Given the description of an element on the screen output the (x, y) to click on. 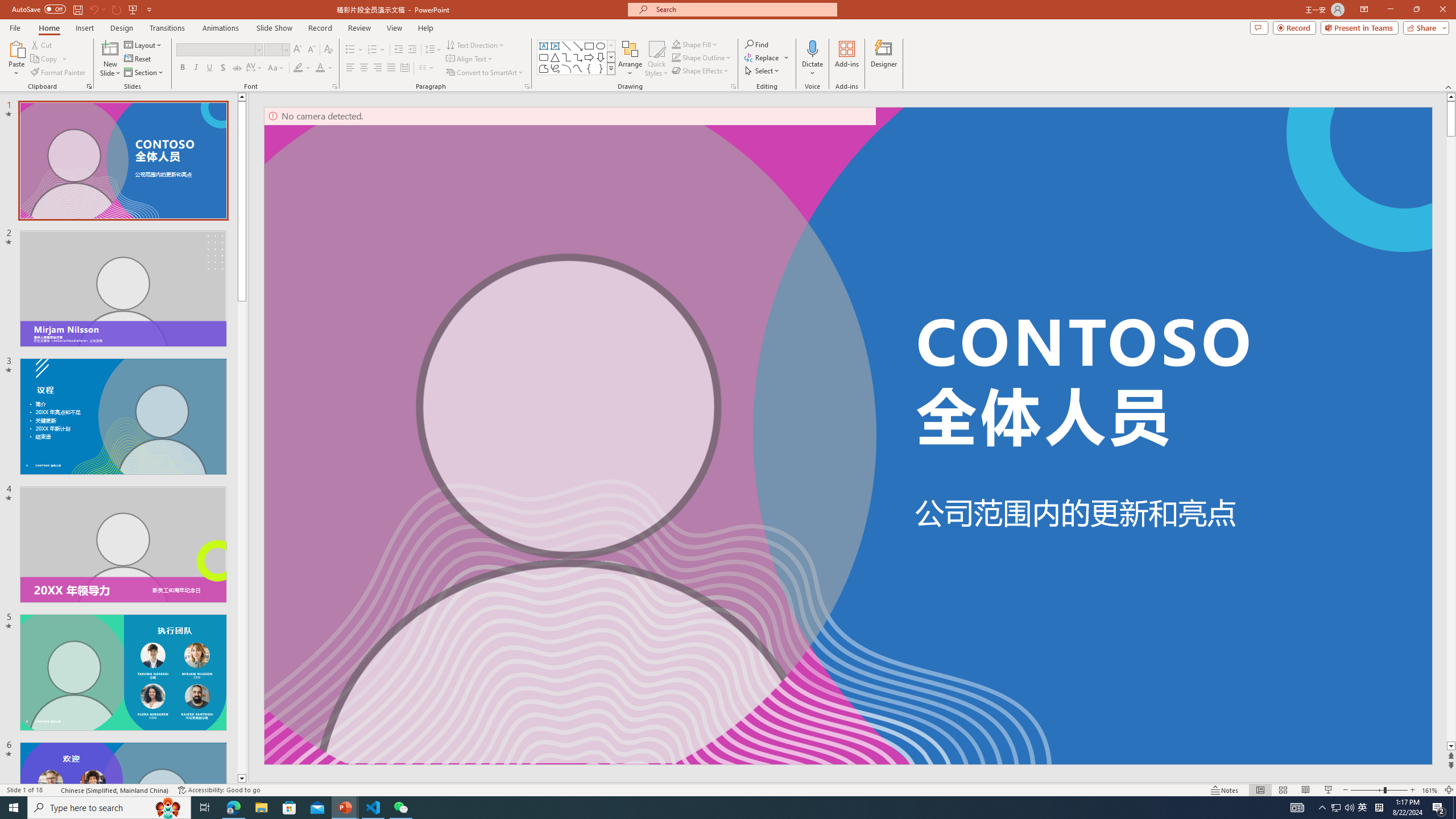
Spell Check  (52, 790)
